Given the description of an element on the screen output the (x, y) to click on. 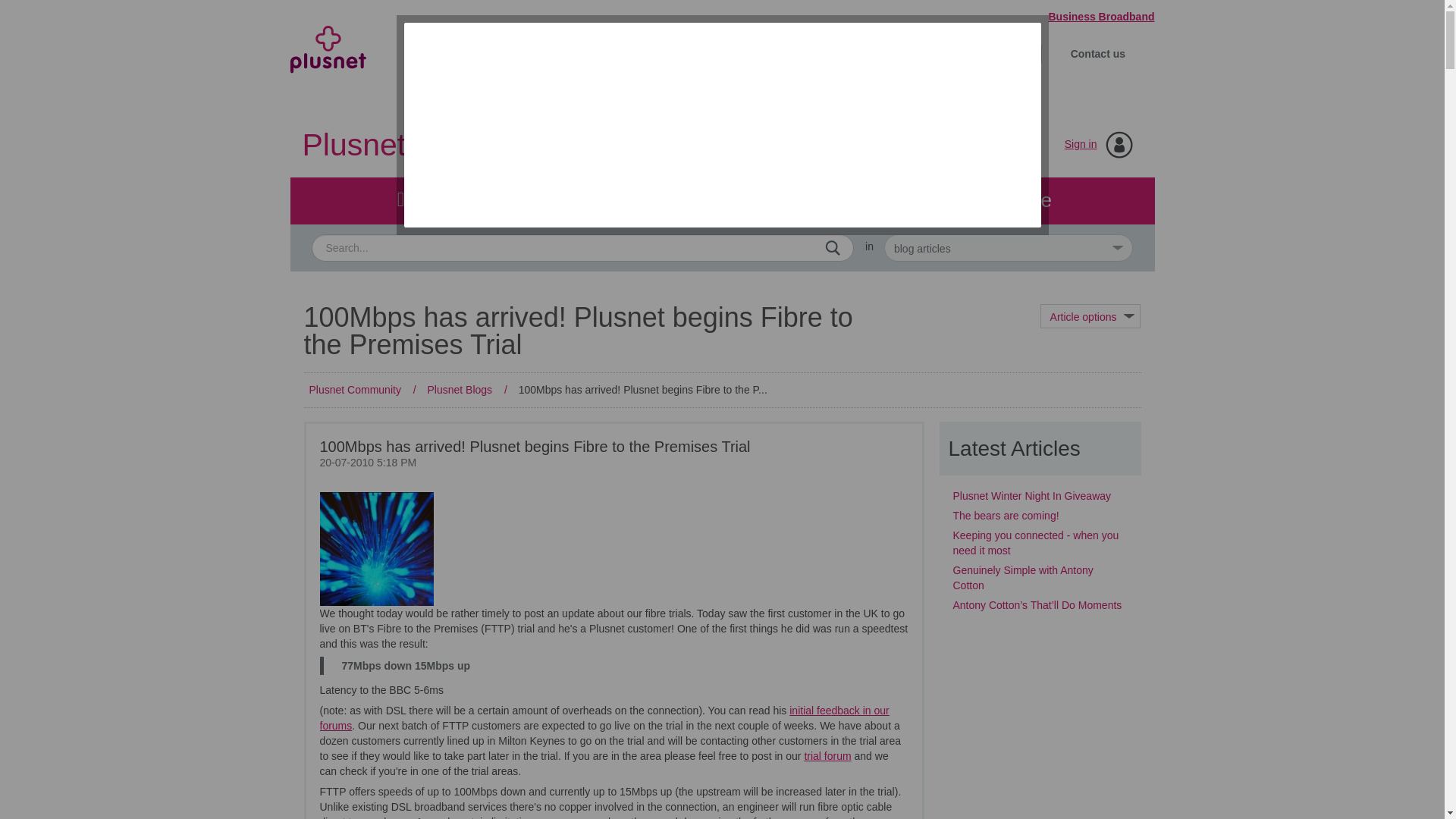
Plusnet Community (435, 144)
fibre1-300x247 (376, 549)
Set search granularity (1007, 247)
Search (582, 247)
Broadband (466, 53)
Blog (721, 200)
Search (832, 247)
Business Broadband (1093, 16)
Forum (432, 200)
Contact us (1097, 53)
Posted on (614, 462)
Sign in (1080, 143)
Search (832, 247)
Plusnet (327, 61)
My account (853, 53)
